Given the description of an element on the screen output the (x, y) to click on. 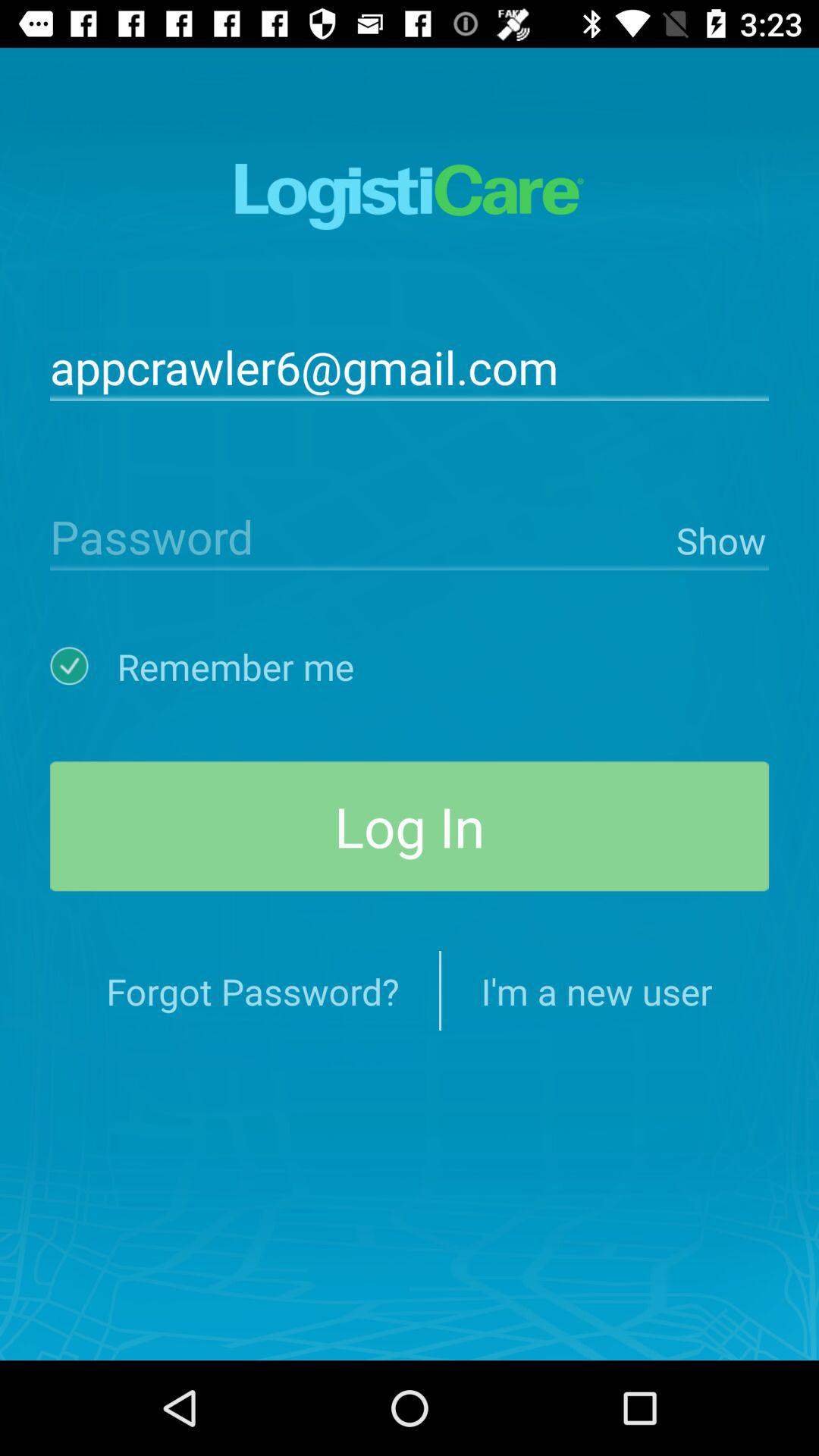
scroll to forgot password? (252, 990)
